Given the description of an element on the screen output the (x, y) to click on. 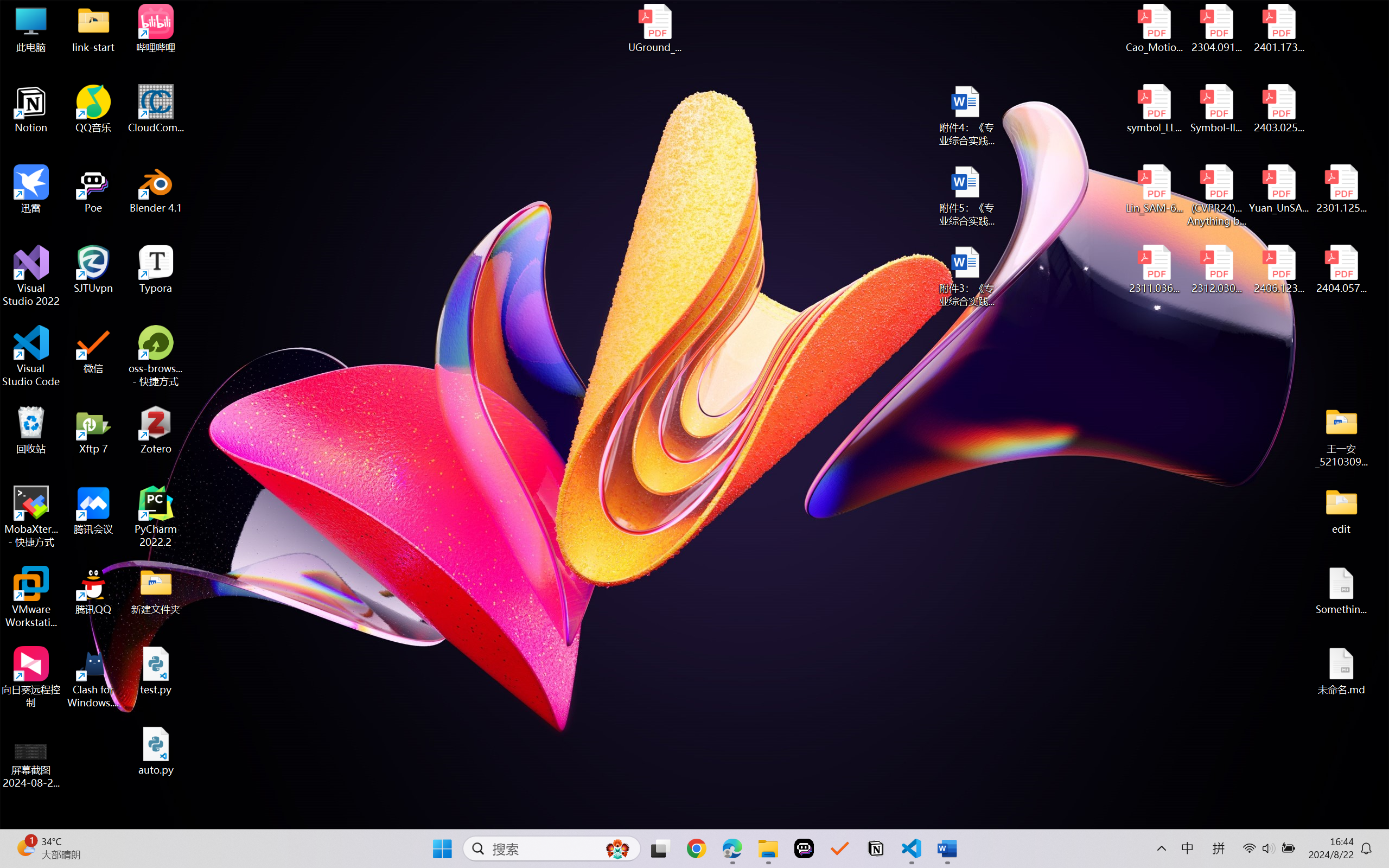
UGround_paper.pdf (654, 28)
(CVPR24)Matching Anything by Segmenting Anything.pdf (1216, 195)
2403.02502v1.pdf (1278, 109)
Google Chrome (696, 848)
2406.12373v2.pdf (1278, 269)
Symbol-llm-v2.pdf (1216, 109)
Blender 4.1 (156, 189)
